Given the description of an element on the screen output the (x, y) to click on. 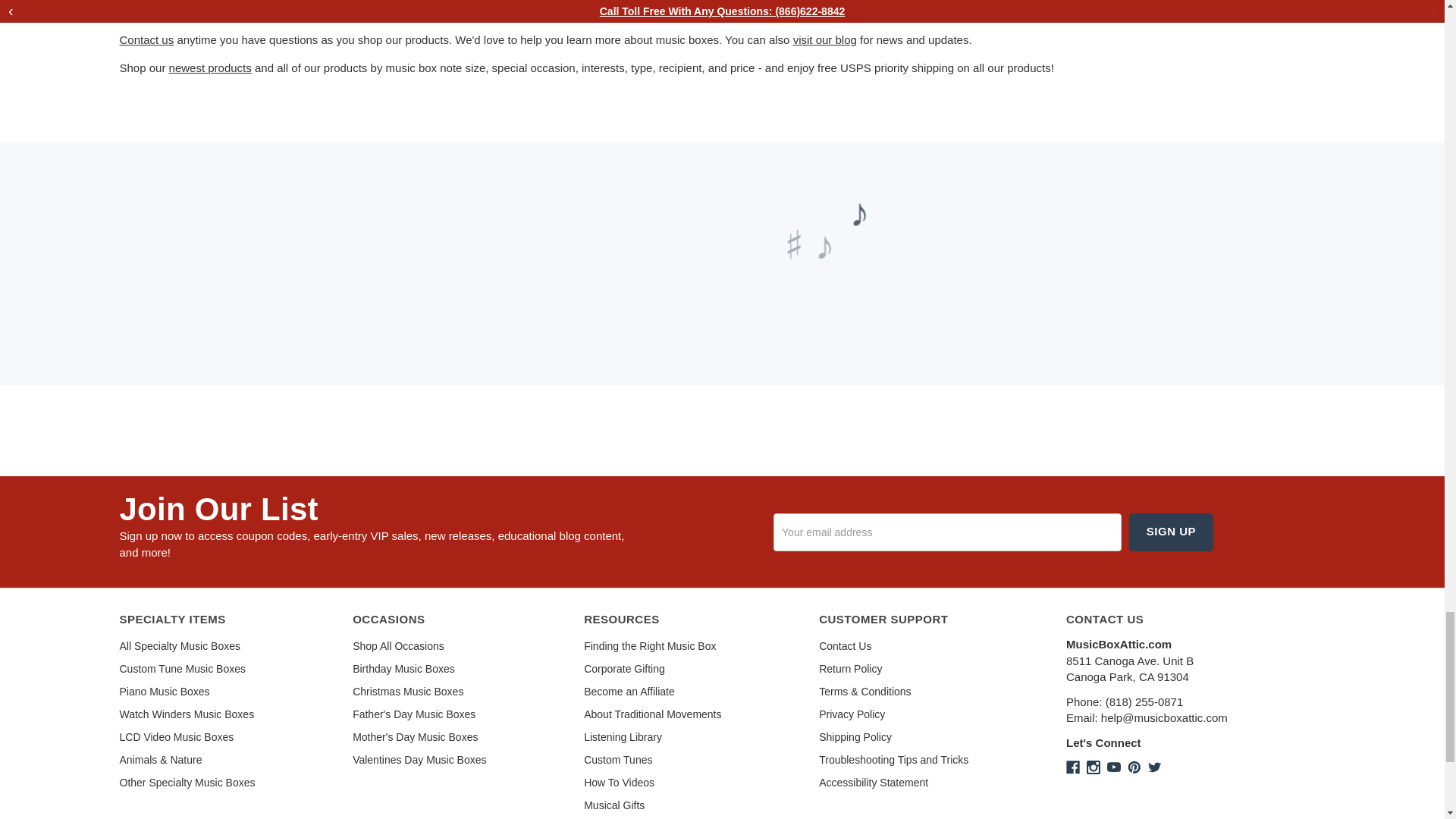
Sign Up (1170, 531)
